Given the description of an element on the screen output the (x, y) to click on. 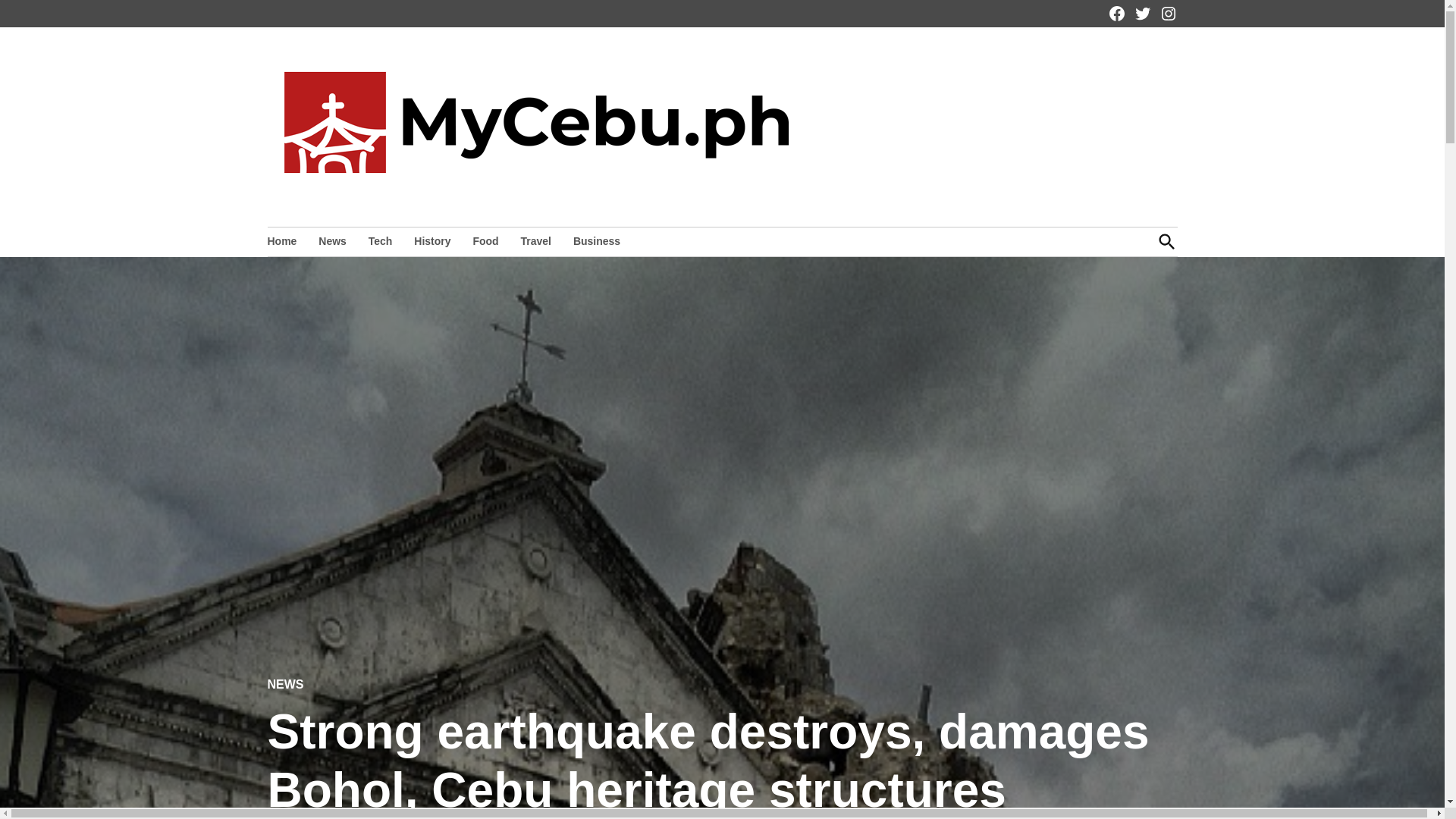
Home (285, 240)
Twitter (1141, 13)
Tech (380, 240)
News (332, 240)
Travel (536, 240)
History (432, 240)
Food (484, 240)
Facebook Page (1115, 13)
NEWS (284, 684)
Business (596, 240)
Instagram (1167, 13)
